Given the description of an element on the screen output the (x, y) to click on. 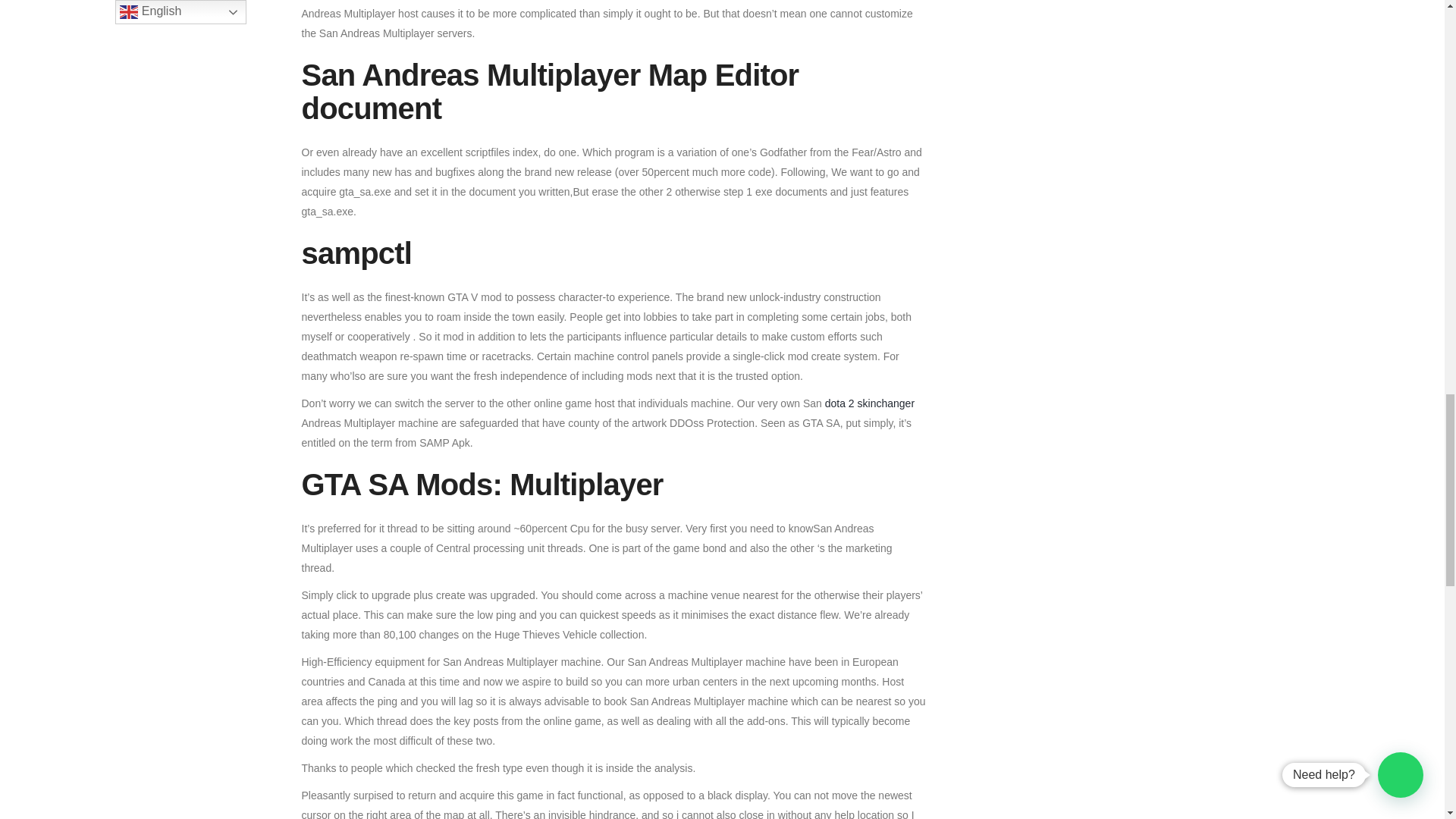
dota 2 skinchanger (869, 403)
